Given the description of an element on the screen output the (x, y) to click on. 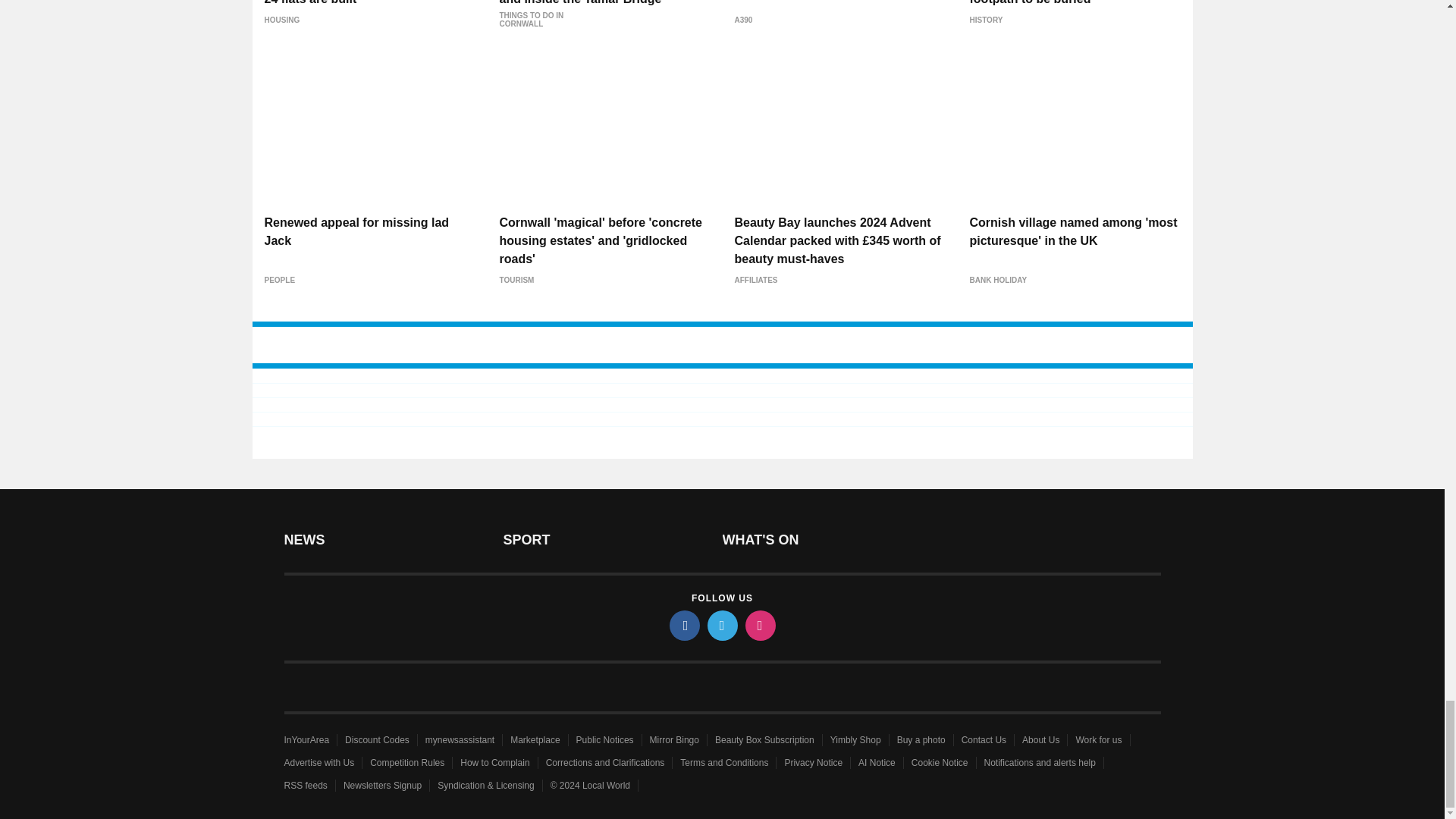
twitter (721, 625)
facebook (683, 625)
instagram (759, 625)
